Given the description of an element on the screen output the (x, y) to click on. 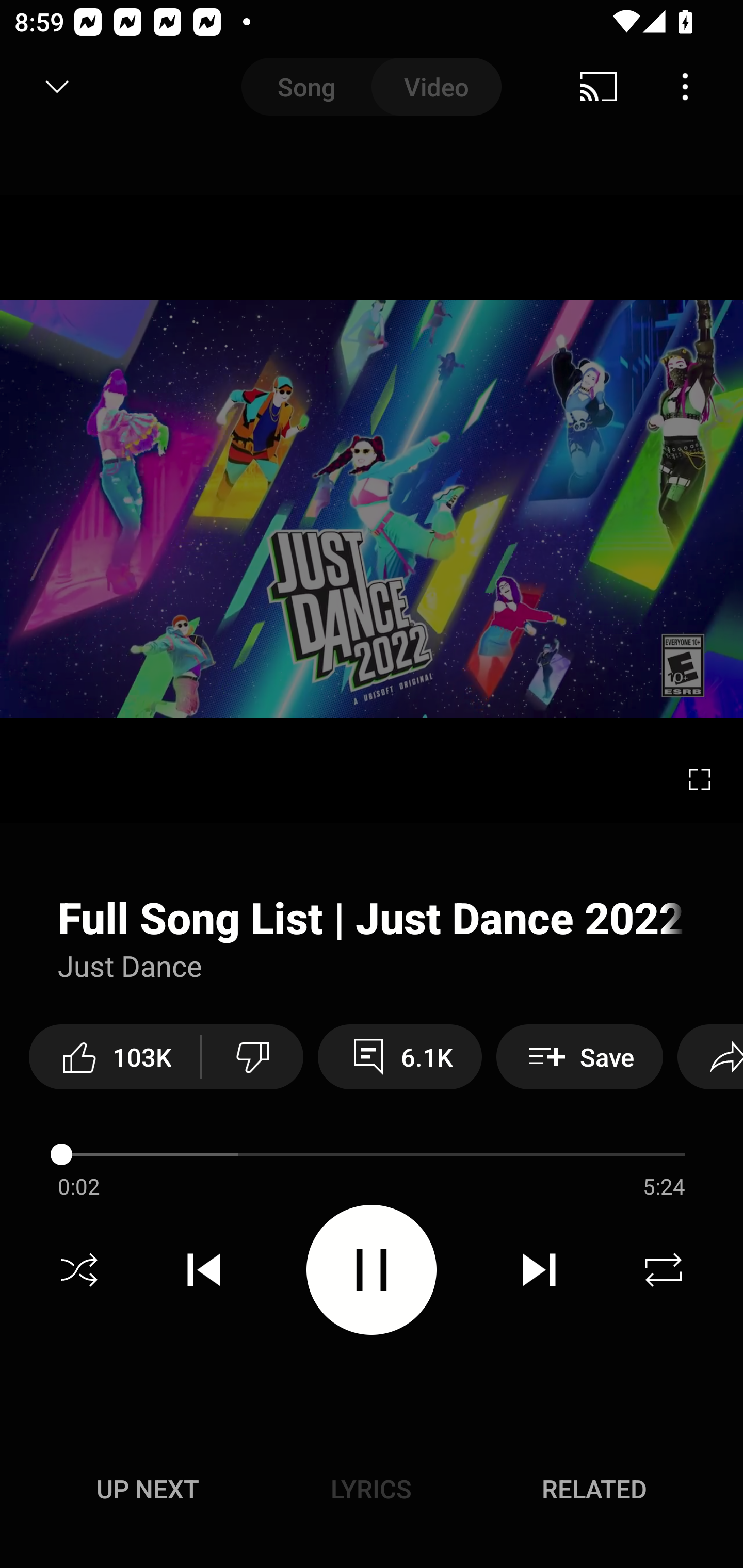
Search back (43, 86)
Cast. Disconnected (598, 86)
Menu (684, 86)
Enter fullscreen (699, 779)
Dislike (252, 1056)
6.1K View 6,182 comments (400, 1056)
Save Save to playlist (579, 1056)
Share (710, 1056)
Pause video (371, 1269)
Shuffle off (79, 1269)
Previous track (203, 1269)
Next track (538, 1269)
Repeat off (663, 1269)
Up next UP NEXT Lyrics LYRICS Related RELATED (371, 1491)
Lyrics LYRICS (370, 1488)
Related RELATED (594, 1488)
